Given the description of an element on the screen output the (x, y) to click on. 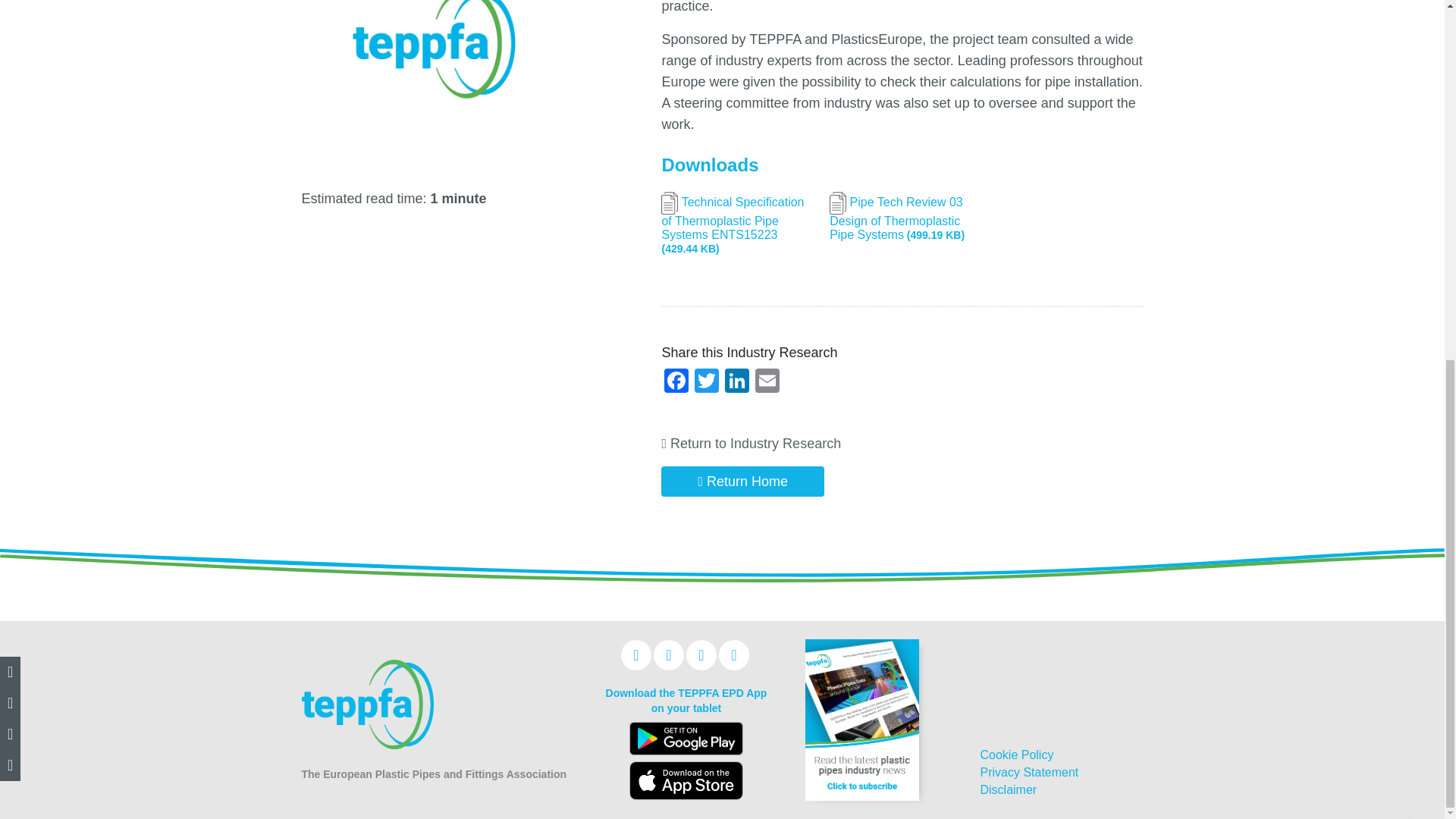
LinkedIn (737, 382)
Back to top (1404, 200)
Facebook (676, 382)
Email (767, 382)
Twitter (706, 382)
